Given the description of an element on the screen output the (x, y) to click on. 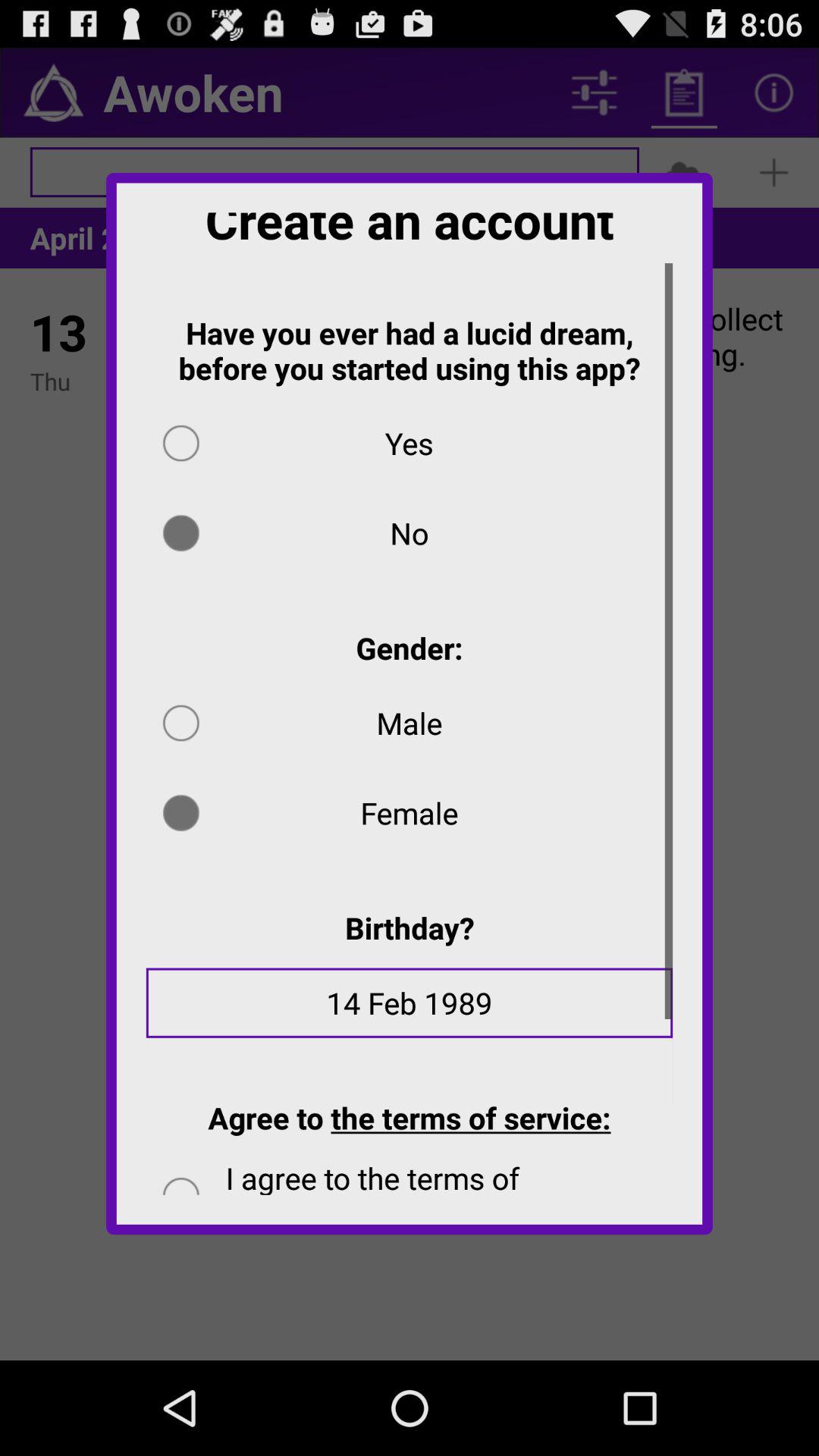
choose the item below birthday? app (409, 1013)
